Given the description of an element on the screen output the (x, y) to click on. 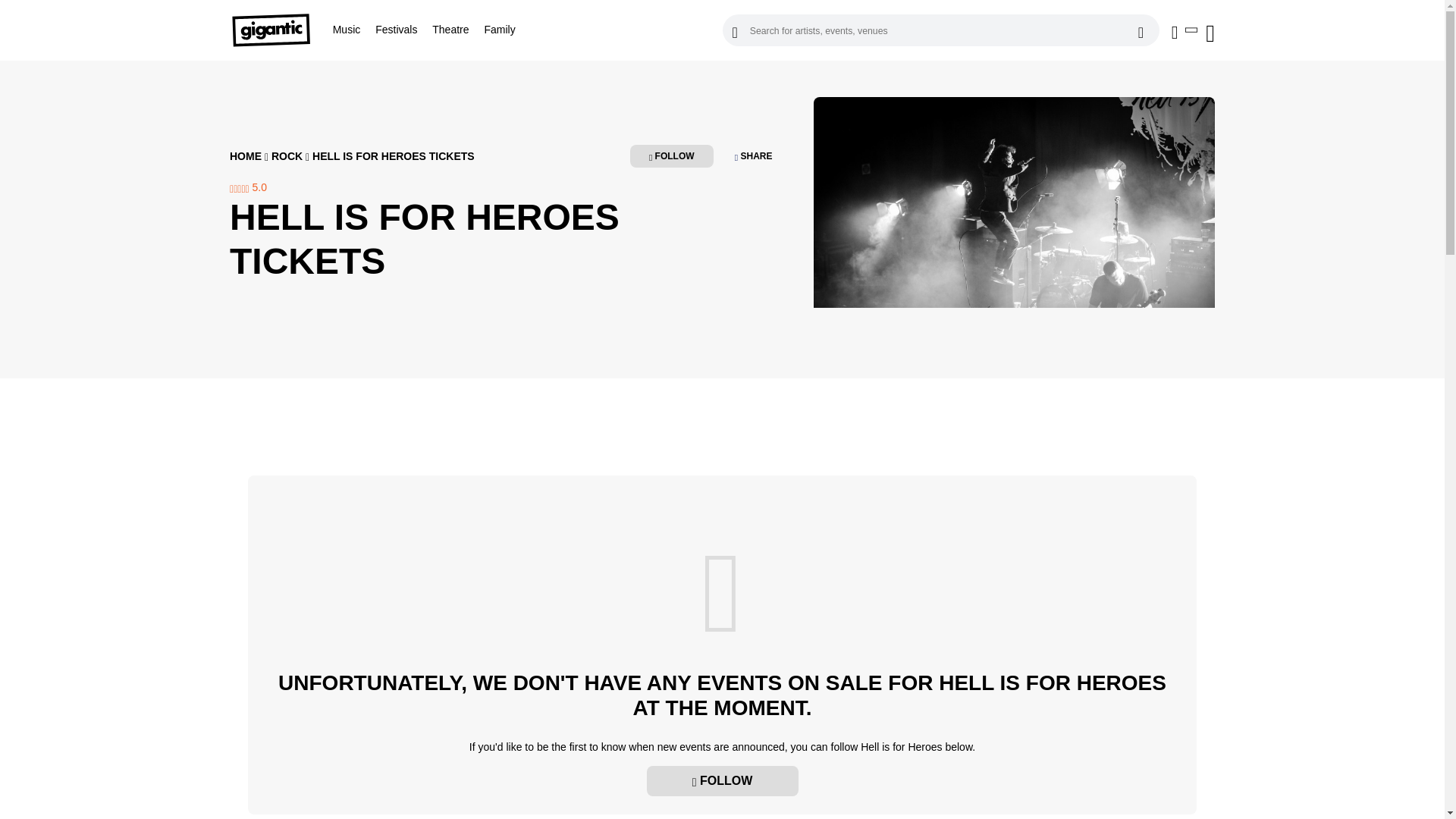
Family (499, 29)
FOLLOW (671, 155)
HOME (246, 155)
FOLLOW (721, 780)
Music (347, 29)
5.0 (248, 186)
Festivals (395, 29)
ROCK (286, 155)
Theatre (450, 29)
Gigantic Tickets: (278, 29)
